Given the description of an element on the screen output the (x, y) to click on. 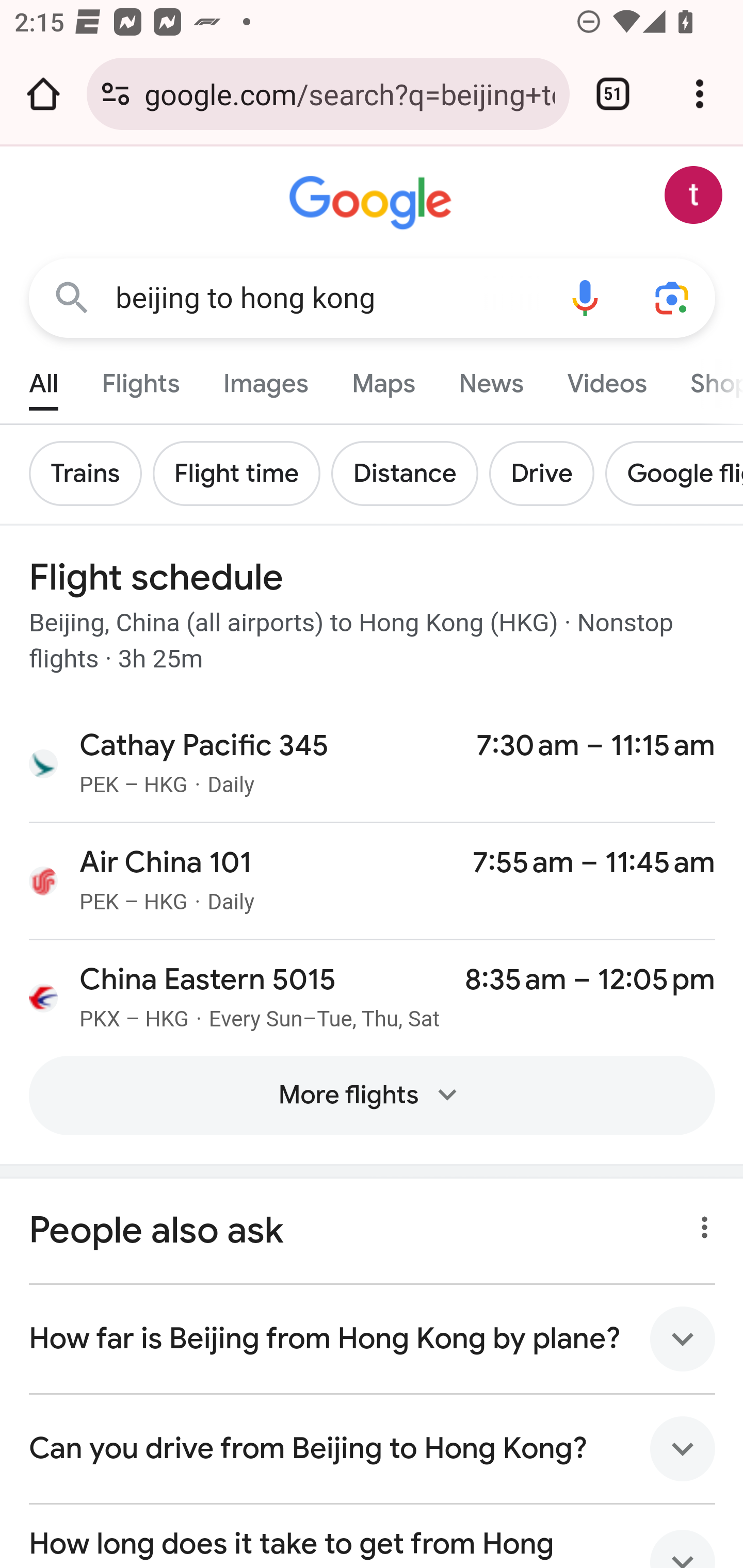
Open the home page (43, 93)
Connection is secure (115, 93)
Switch or close tabs (612, 93)
Customize and control Google Chrome (699, 93)
